Given the description of an element on the screen output the (x, y) to click on. 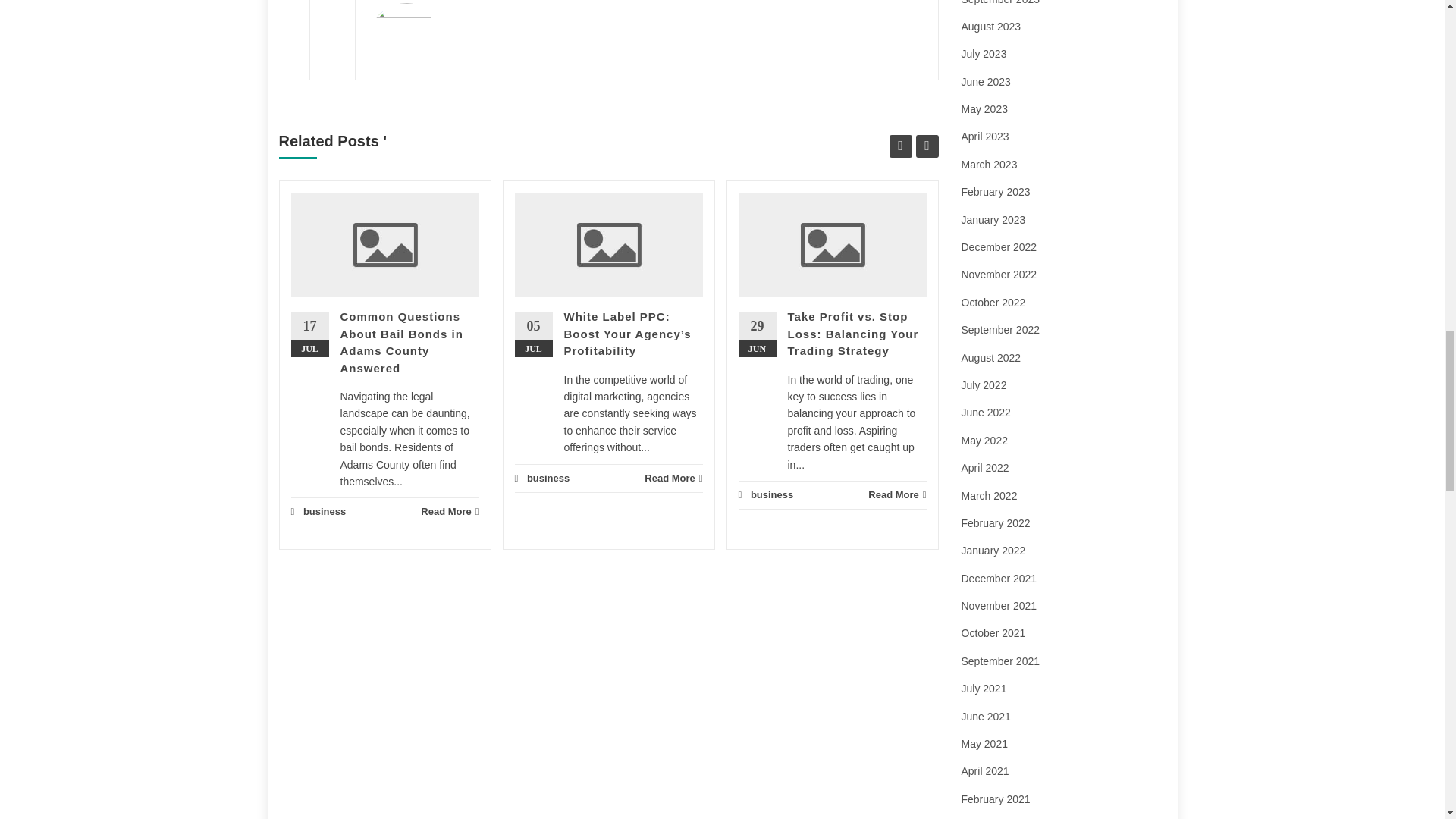
Read More (449, 511)
Read More (673, 477)
business (324, 511)
Common Questions About Bail Bonds in Adams County Answered (401, 342)
business (548, 477)
